Given the description of an element on the screen output the (x, y) to click on. 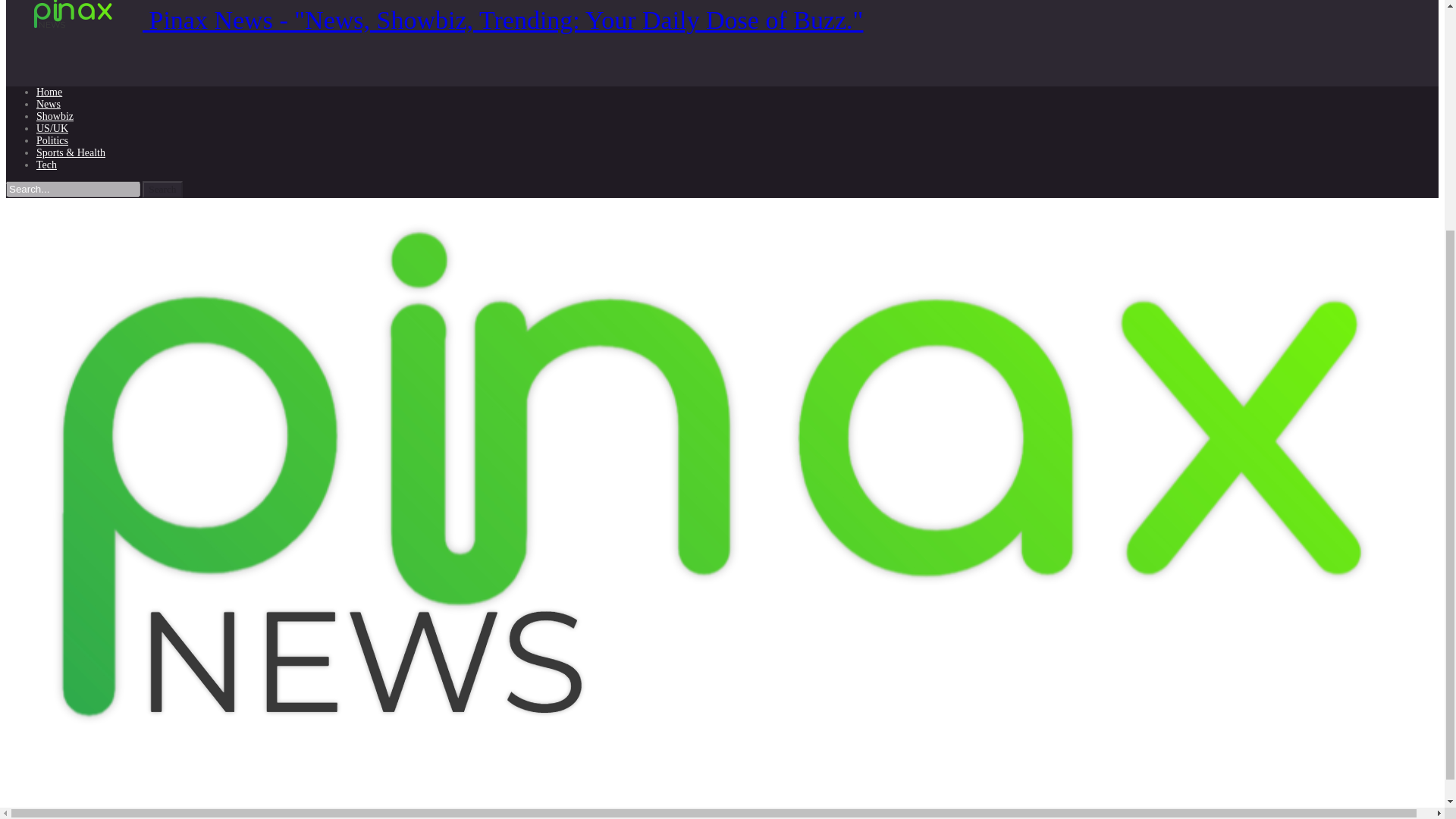
News (48, 103)
Search for: (72, 188)
Tech (46, 164)
Home (49, 91)
Search (162, 189)
Politics (52, 140)
Search (162, 189)
Showbiz (55, 116)
Search (162, 189)
